Given the description of an element on the screen output the (x, y) to click on. 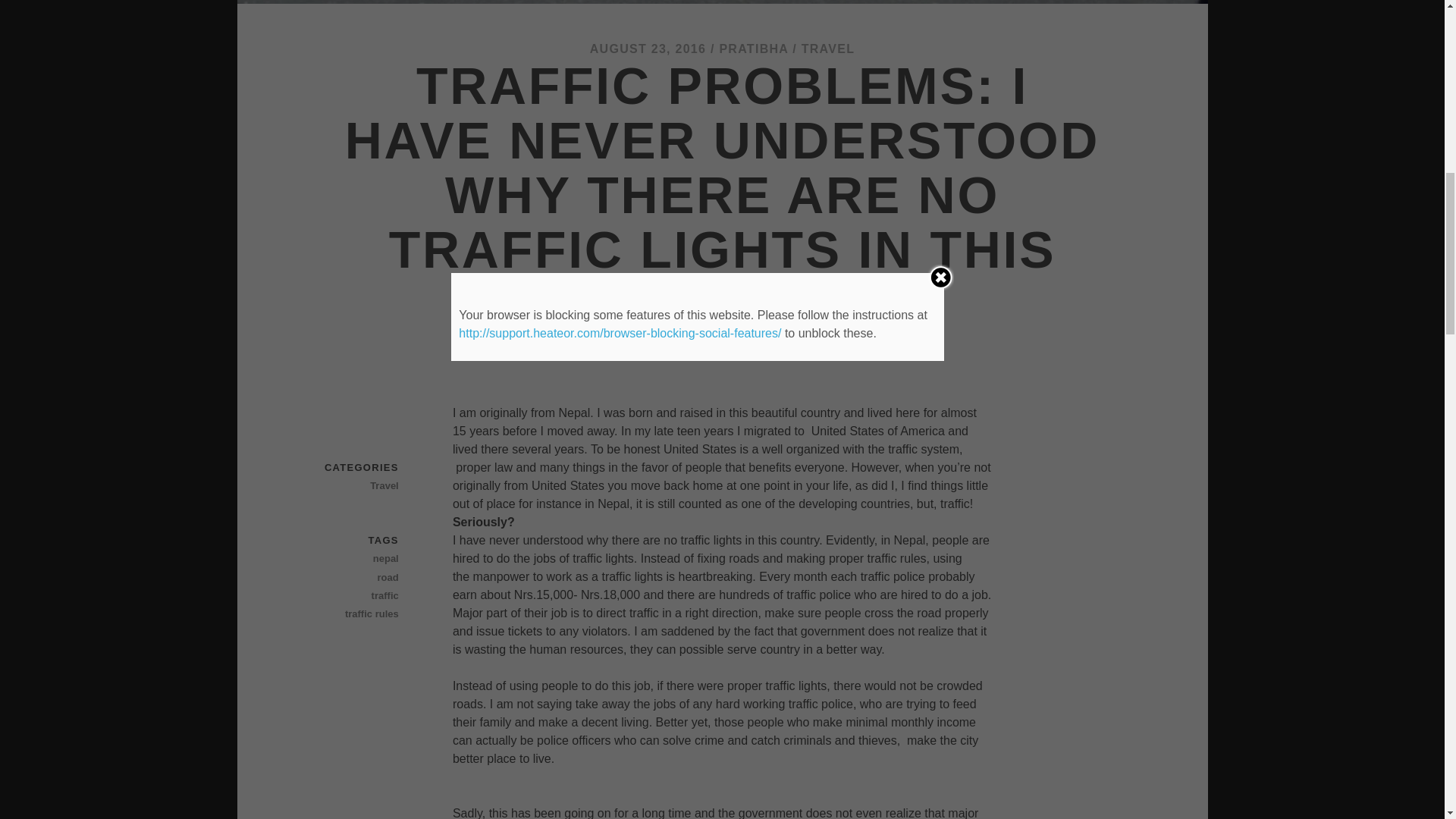
PRATIBHA (753, 48)
TRAVEL (829, 48)
Posts by Pratibha (753, 48)
